Given the description of an element on the screen output the (x, y) to click on. 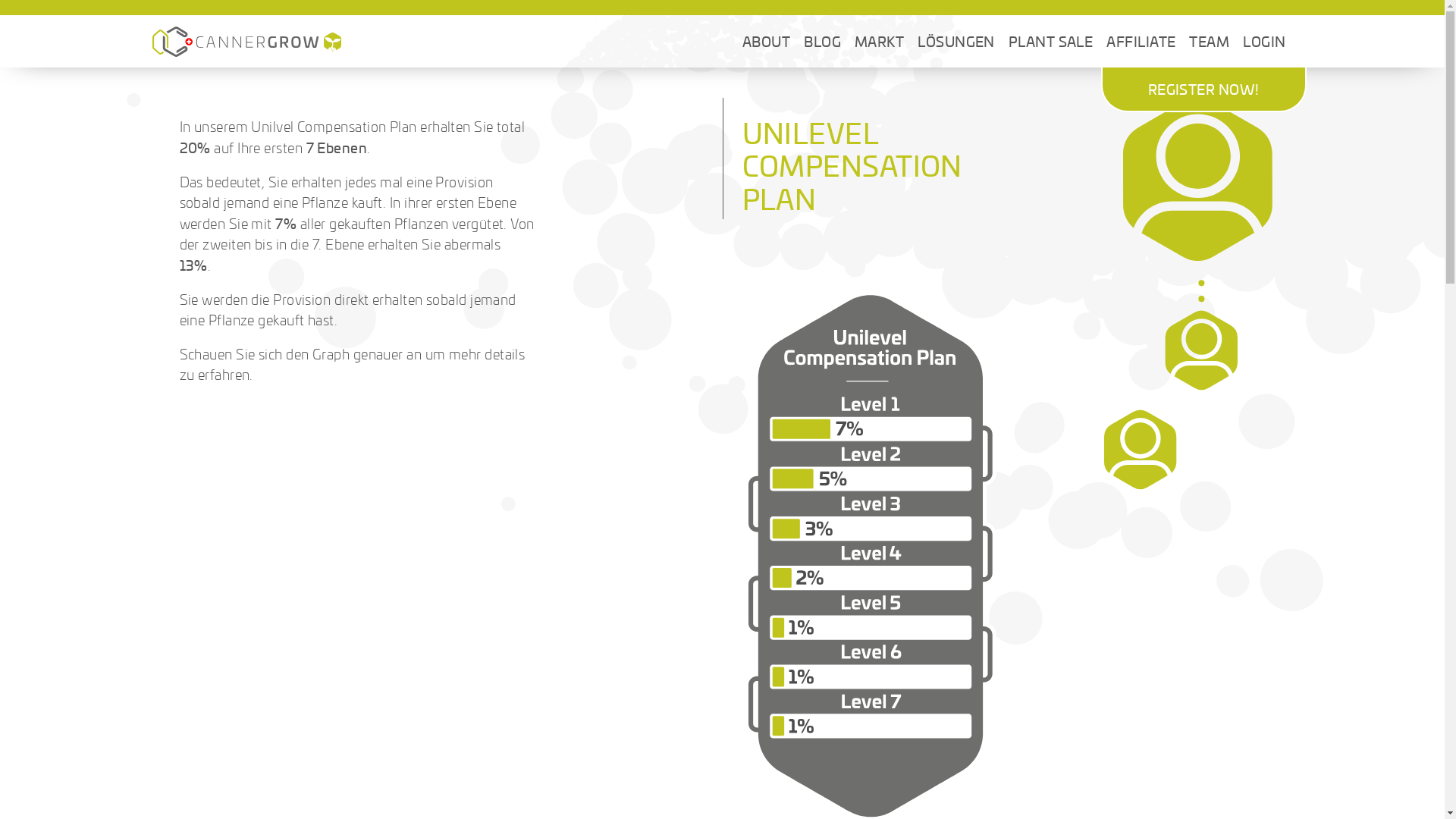
PLANT SALE Element type: text (1050, 41)
TEAM Element type: text (1209, 41)
MARKT Element type: text (878, 41)
AFFILIATE Element type: text (1140, 41)
LOGIN Element type: text (1264, 41)
BLOG Element type: text (822, 41)
REGISTER NOW! Element type: text (1203, 89)
ABOUT Element type: text (766, 41)
